Given the description of an element on the screen output the (x, y) to click on. 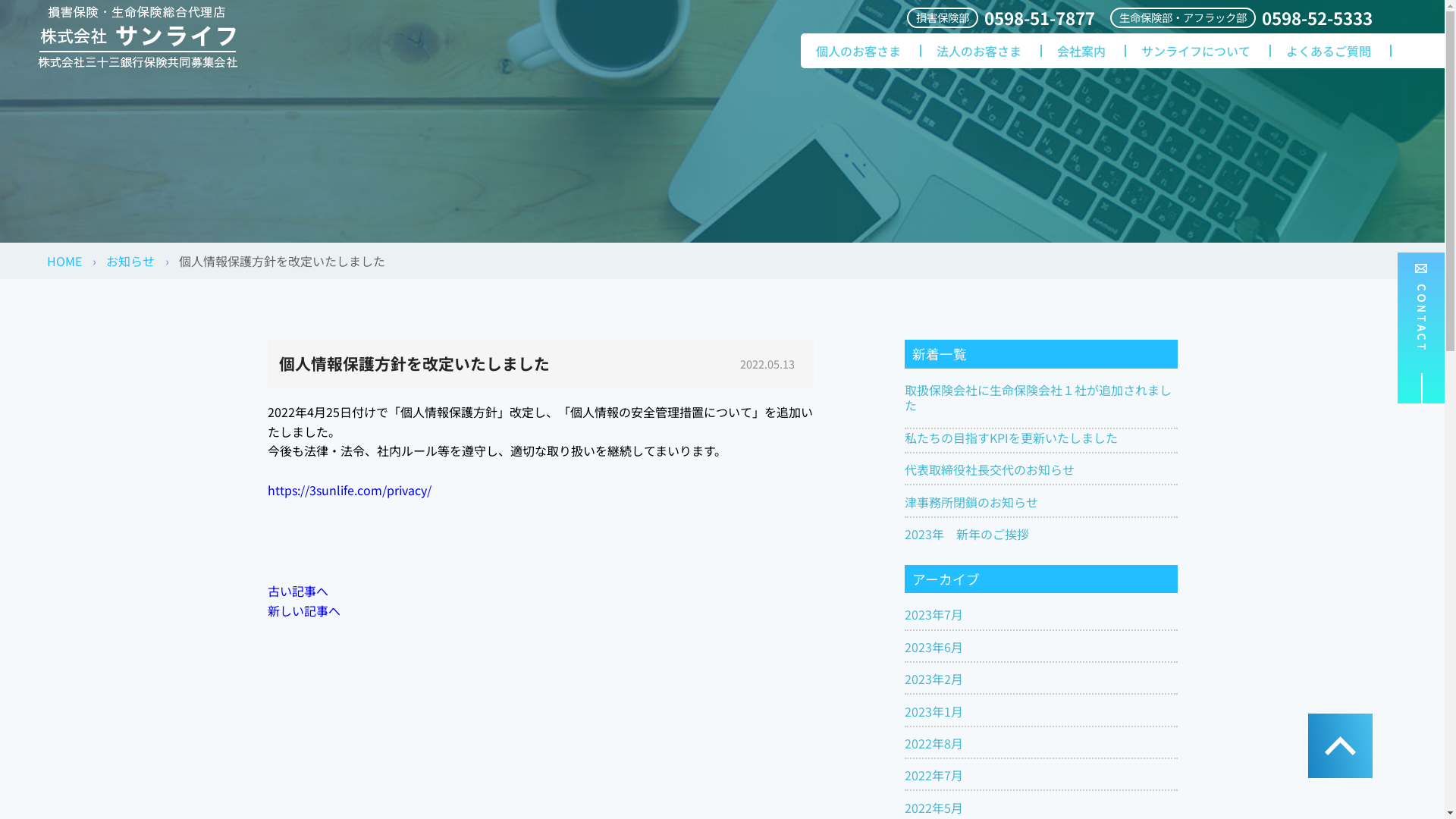
https://3sunlife.com/privacy/ Element type: text (348, 489)
HOME Element type: text (64, 260)
